Given the description of an element on the screen output the (x, y) to click on. 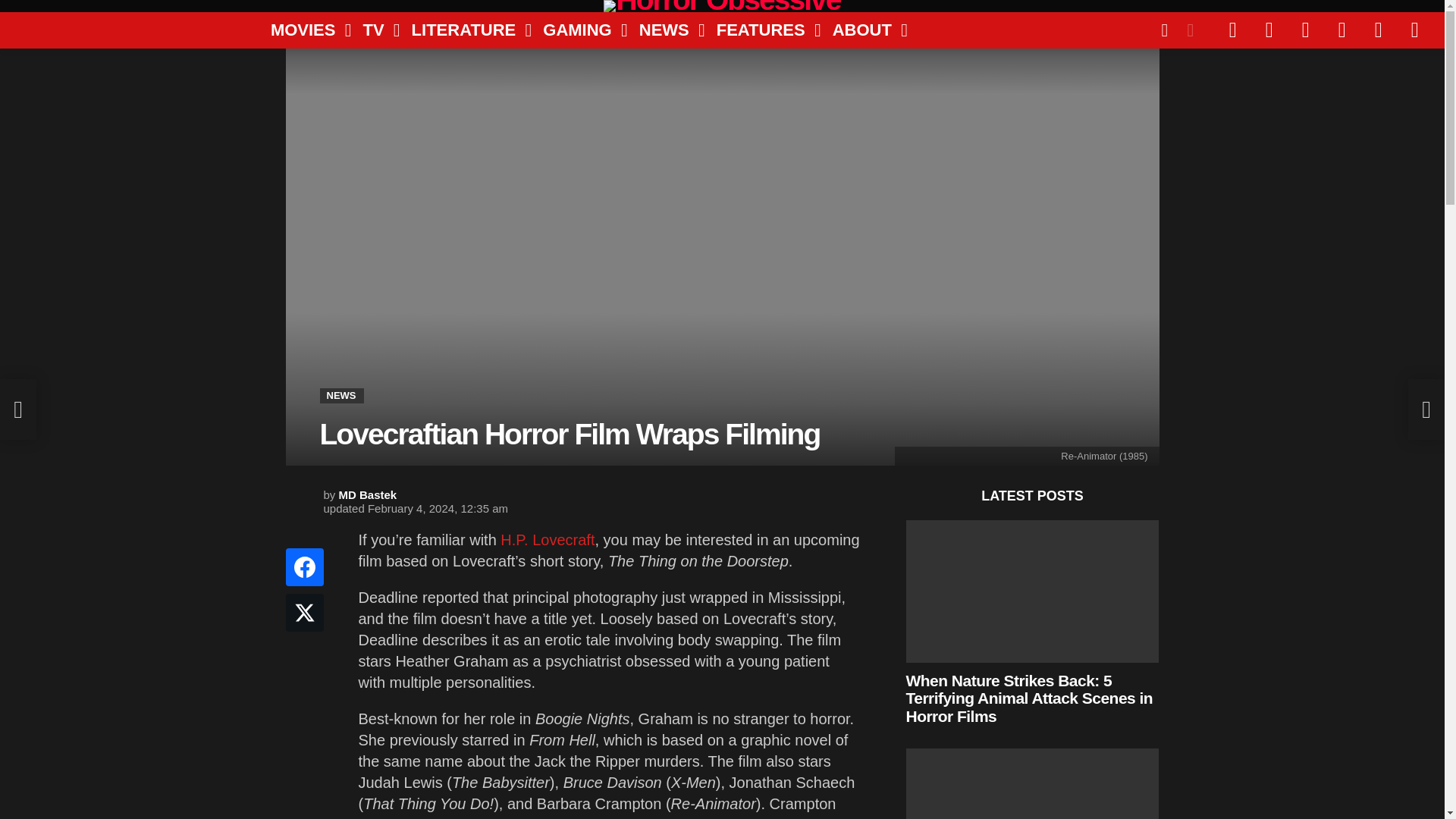
MOVIES (305, 29)
TV (375, 29)
Posts by MD Bastek (368, 494)
Lovecraftian Horror Perfected: The Subtle Genius of The Void (1031, 783)
Share on Facebook (304, 566)
Share on Twitter (304, 612)
